Given the description of an element on the screen output the (x, y) to click on. 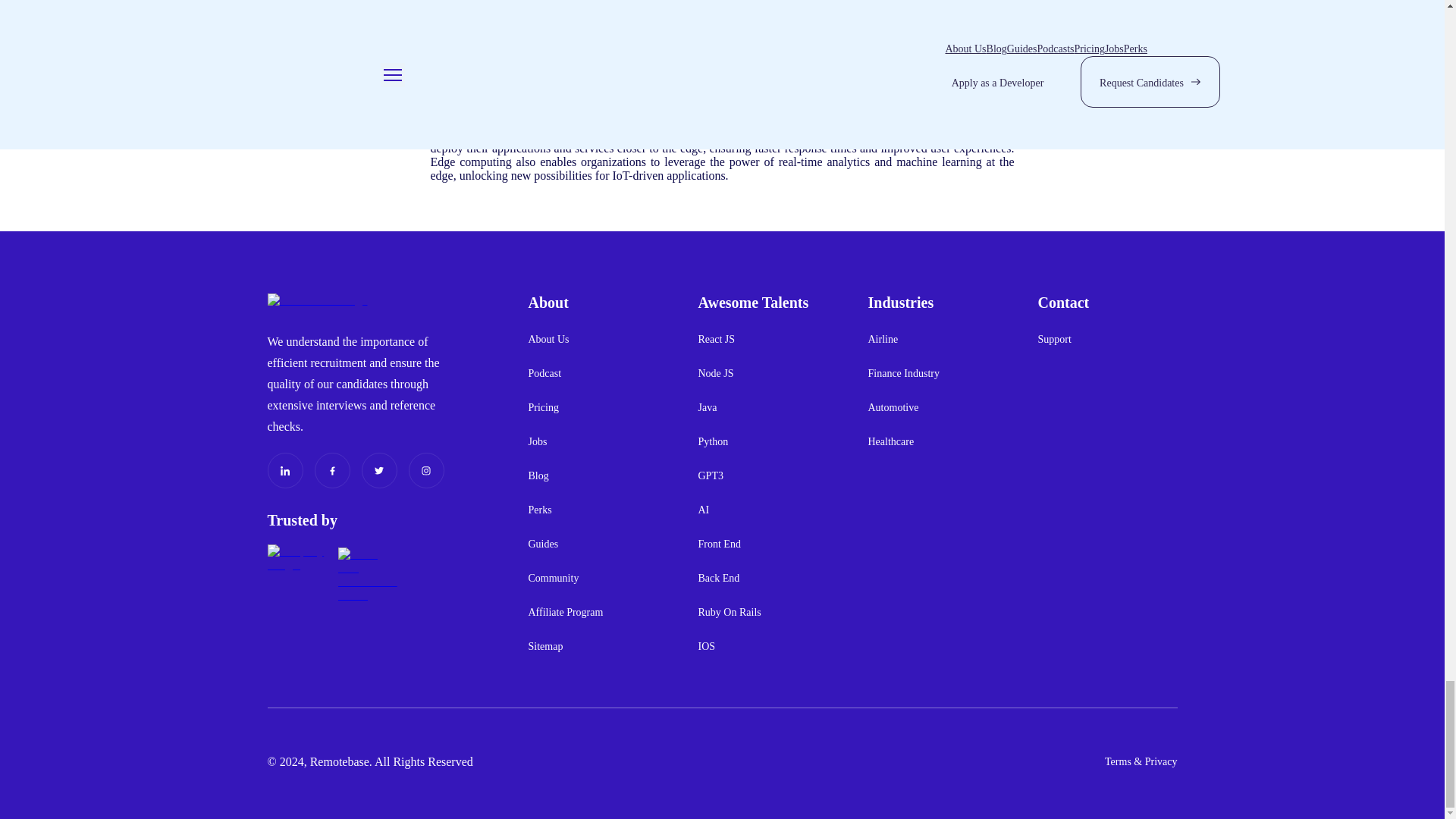
Node JS (715, 373)
Blog (537, 475)
Sitemap (544, 646)
Podcast (543, 373)
Pricing (542, 407)
Perks (539, 509)
About Us (548, 339)
Community (552, 578)
React JS (716, 339)
Guides (542, 544)
